Given the description of an element on the screen output the (x, y) to click on. 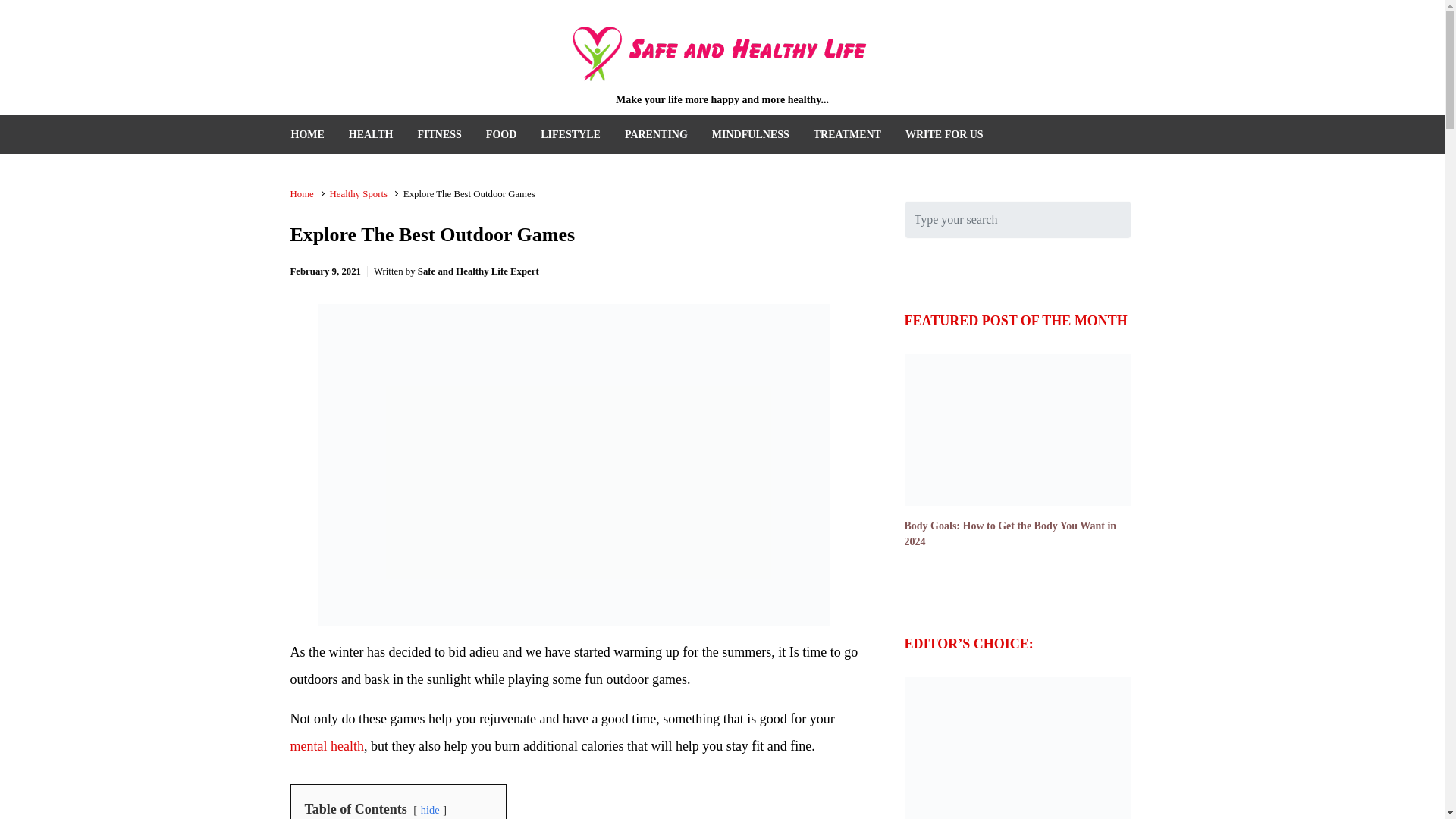
View all posts by Safe and Healthy Life Expert (477, 271)
LIFESTYLE (570, 134)
FITNESS (438, 134)
Home (301, 194)
MINDFULNESS (750, 134)
PARENTING (656, 134)
Skip to main content (20, 11)
Safe and Healthy Life Expert (477, 271)
HEALTH (370, 134)
TREATMENT (847, 134)
